Given the description of an element on the screen output the (x, y) to click on. 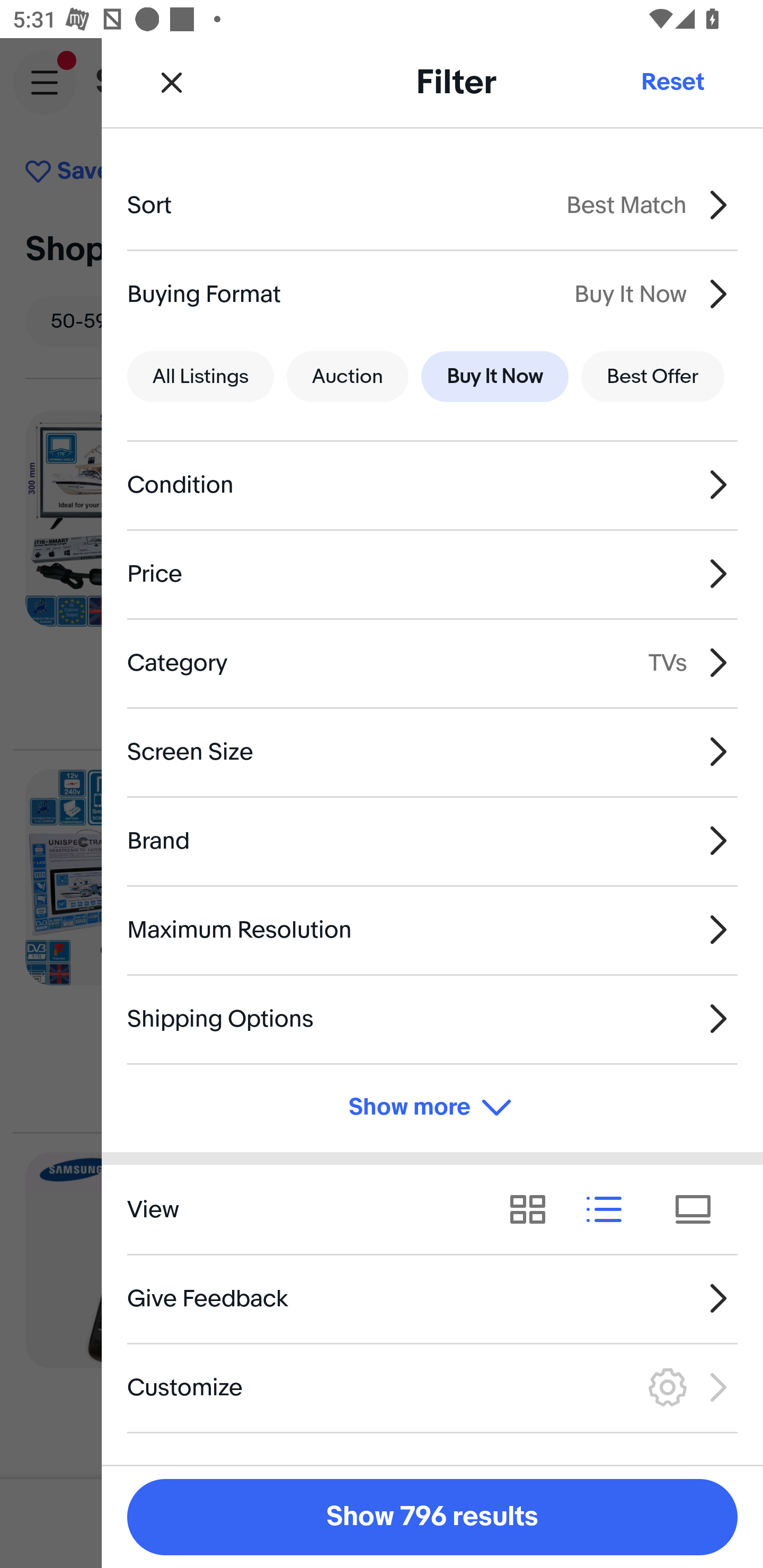
Close Filter (171, 81)
Reset (672, 81)
Buying Format Buy It Now (432, 293)
All Listings (200, 376)
Auction (347, 376)
Buy It Now (494, 376)
Best Offer (652, 376)
Condition (432, 484)
Price (432, 573)
Category TVs (432, 662)
Screen Size (432, 751)
Brand (432, 840)
Maximum Resolution (432, 929)
Shipping Options (432, 1018)
Show more (432, 1107)
View results as grid (533, 1209)
View results as list (610, 1209)
View results as tiles (699, 1209)
Customize (432, 1386)
Show 796 results (432, 1516)
